Given the description of an element on the screen output the (x, y) to click on. 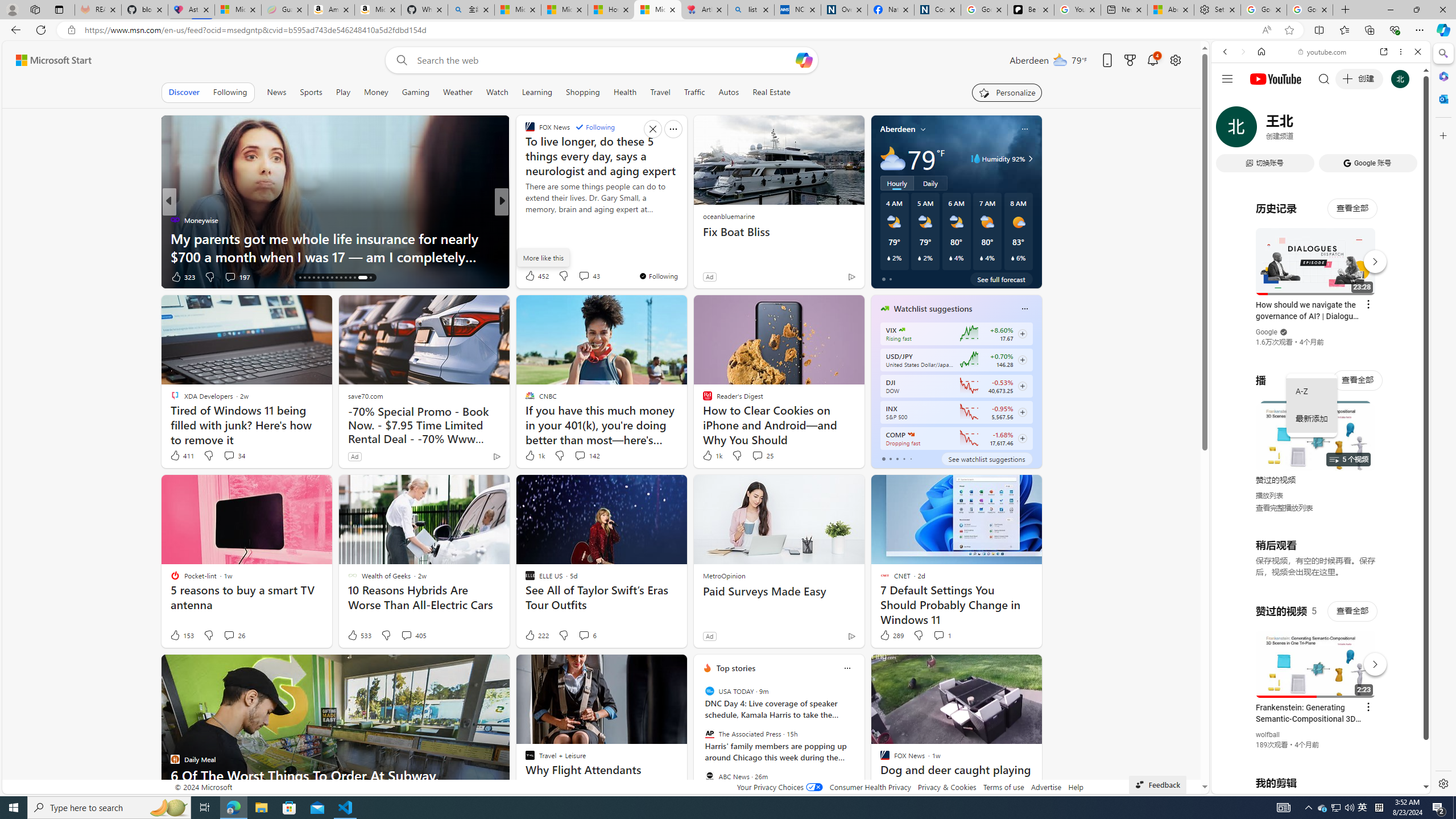
MetroOpinion (723, 574)
153 Like (181, 634)
222 Like (536, 634)
#you (1320, 253)
YouTube (1315, 655)
#you (1315, 659)
AutomationID: tab-18 (309, 277)
